Given the description of an element on the screen output the (x, y) to click on. 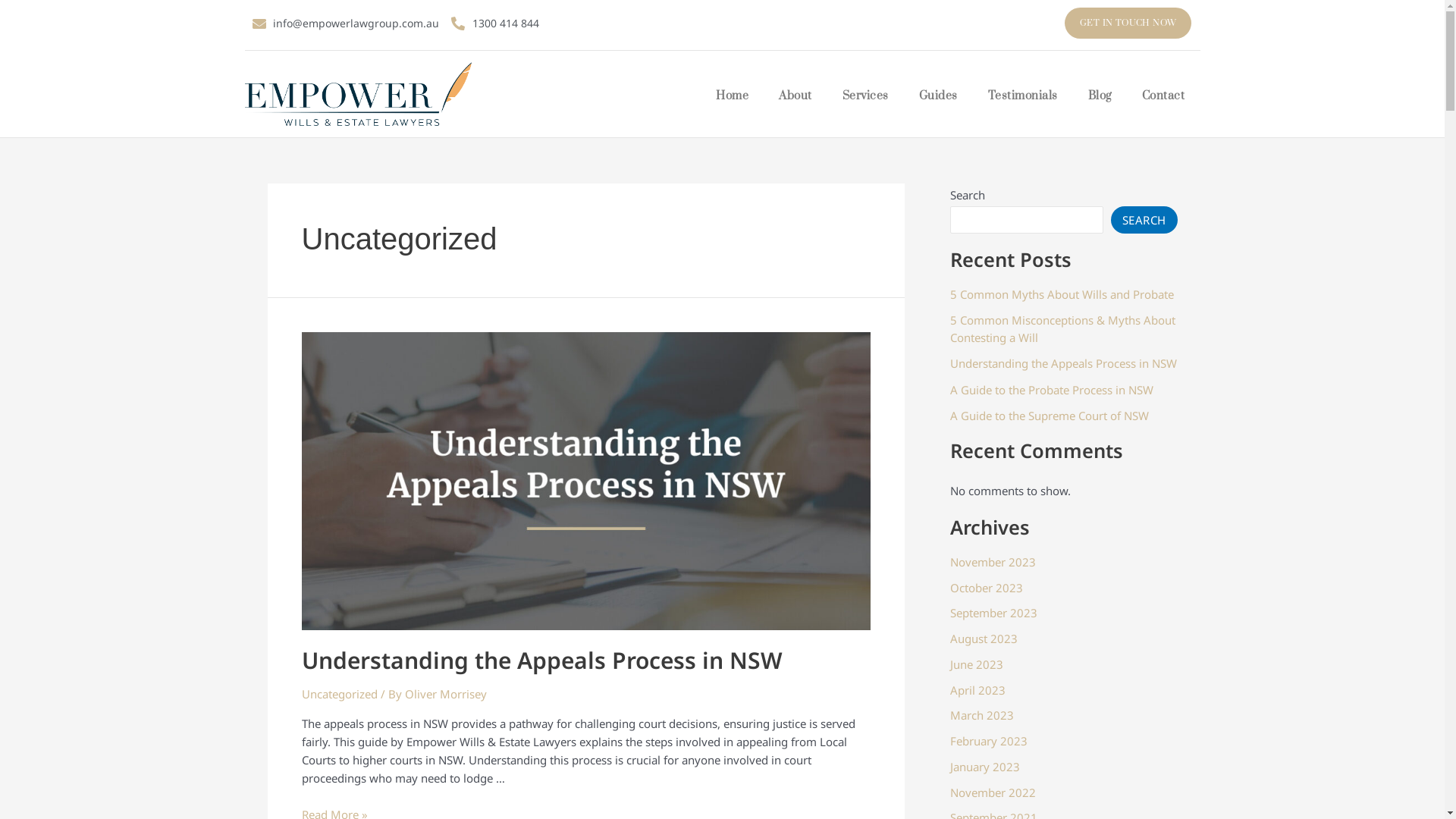
Services Element type: text (865, 95)
A Guide to the Supreme Court of NSW Element type: text (1048, 415)
1300 414 844 Element type: text (495, 22)
Testimonials Element type: text (1022, 95)
About Element type: text (795, 95)
Home Element type: text (731, 95)
October 2023 Element type: text (985, 587)
January 2023 Element type: text (984, 766)
5 Common Misconceptions & Myths About Contesting a Will Element type: text (1061, 328)
Understanding the Appeals Process in NSW Element type: text (1062, 362)
info@empowerlawgroup.com.au Element type: text (345, 22)
August 2023 Element type: text (982, 638)
Understanding the Appeals Process in NSW Element type: text (541, 659)
Blog Element type: text (1099, 95)
April 2023 Element type: text (976, 689)
February 2023 Element type: text (987, 740)
Guides Element type: text (937, 95)
November 2023 Element type: text (992, 561)
5 Common Myths About Wills and Probate Element type: text (1061, 293)
GET IN TOUCH NOW Element type: text (1127, 22)
March 2023 Element type: text (981, 714)
Oliver Morrisey Element type: text (445, 693)
Uncategorized Element type: text (339, 693)
Contact Element type: text (1163, 95)
SEARCH Element type: text (1143, 219)
June 2023 Element type: text (975, 663)
September 2023 Element type: text (992, 612)
November 2022 Element type: text (992, 792)
A Guide to the Probate Process in NSW Element type: text (1050, 389)
